Given the description of an element on the screen output the (x, y) to click on. 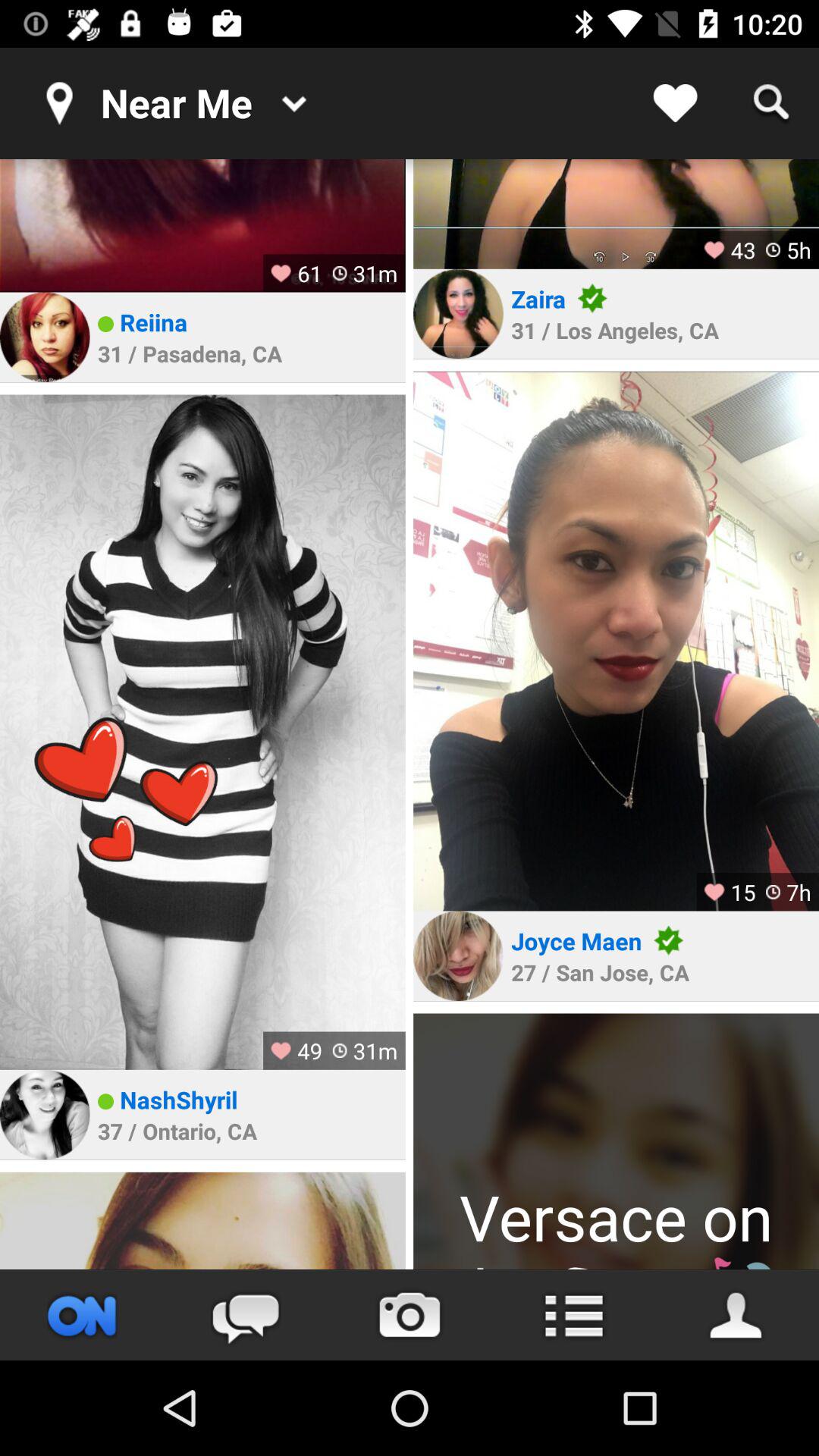
launch the icon above 37 / ontario, ca item (178, 1099)
